Given the description of an element on the screen output the (x, y) to click on. 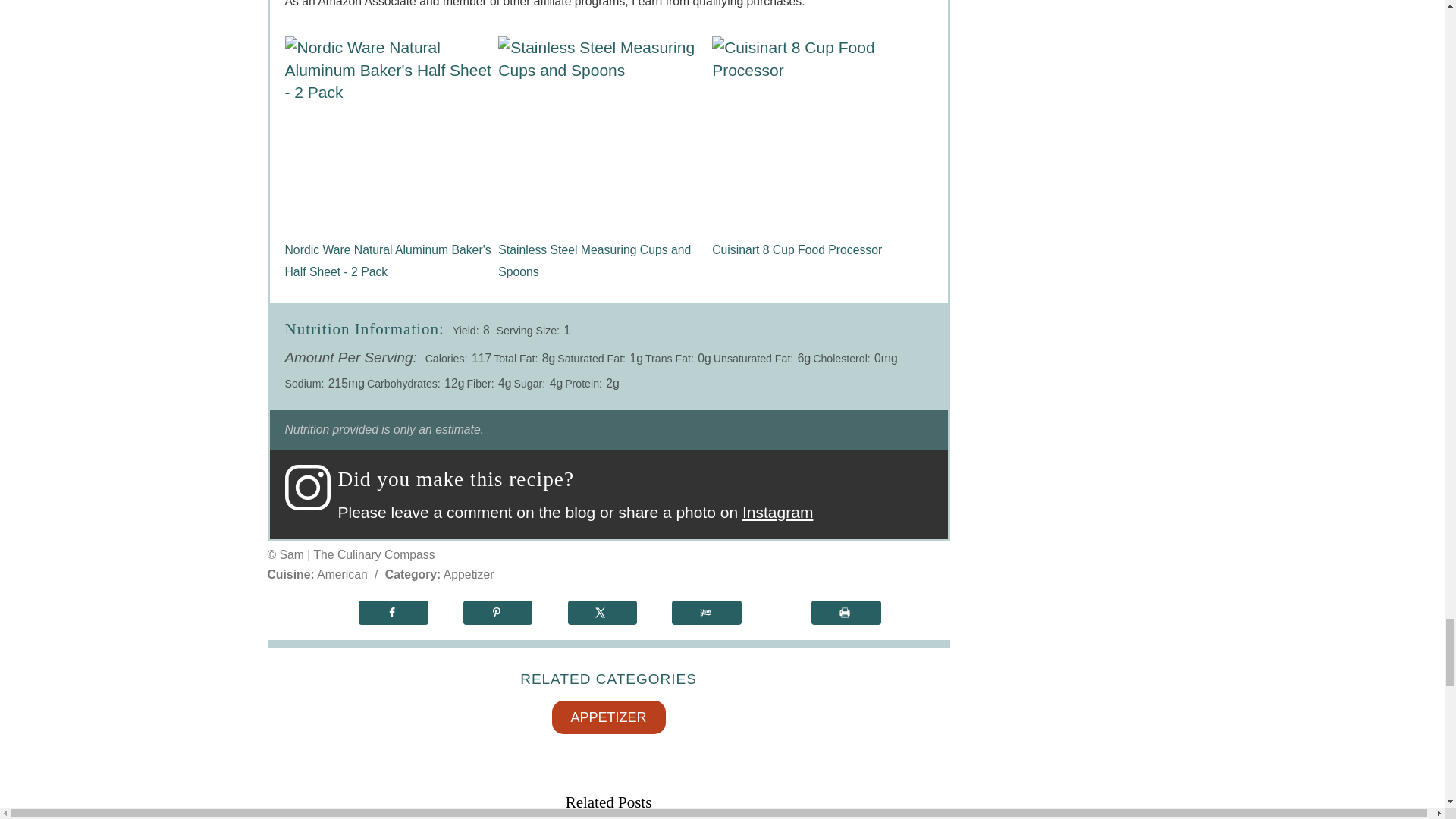
Save to Pinterest (497, 612)
Share on Facebook (393, 612)
